Given the description of an element on the screen output the (x, y) to click on. 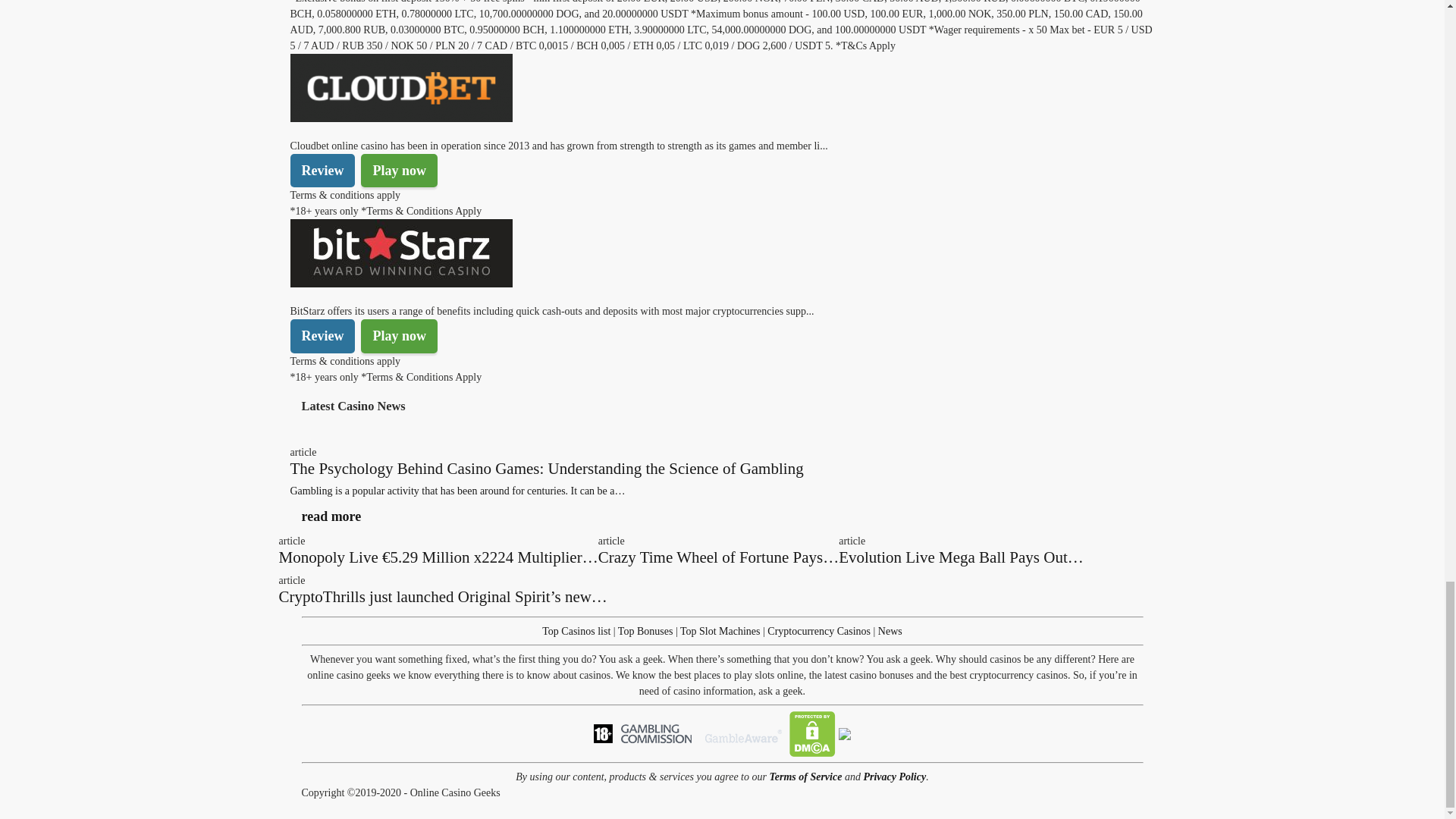
Play now (398, 335)
Review (322, 335)
Review (322, 170)
Top Casinos list (575, 631)
Play now (398, 170)
Top Bonuses (644, 631)
DMCA.com Protection Status (812, 732)
